Given the description of an element on the screen output the (x, y) to click on. 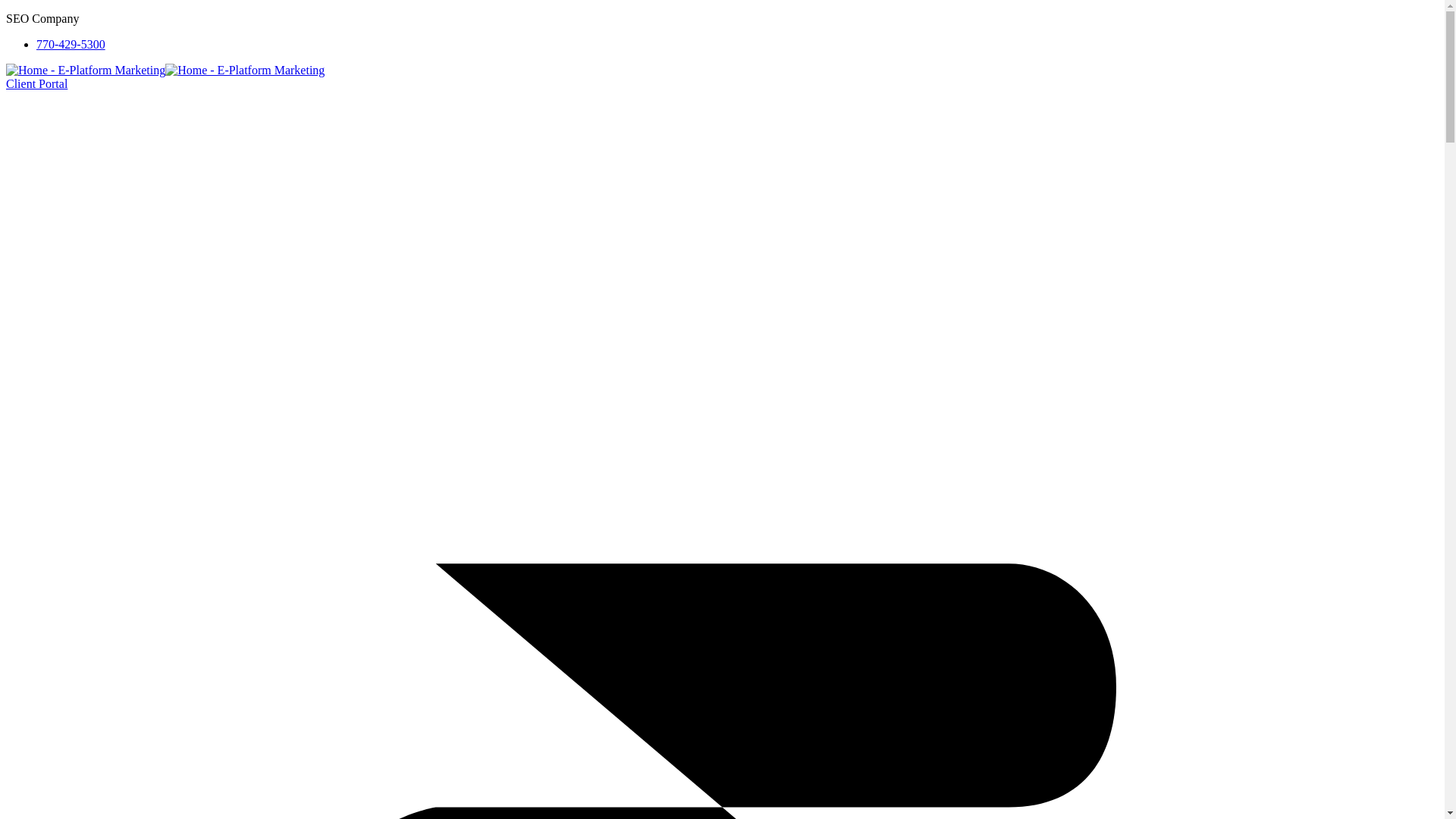
Client Portal - Pay Online, Access Services (35, 83)
Home - E-Platform Marketing (85, 69)
770-429-5300 (70, 43)
Client Portal (35, 83)
Home - E-Platform Marketing (244, 69)
Call 770-429-5300 Mon-Fri 9am-6pm EST (70, 43)
